Given the description of an element on the screen output the (x, y) to click on. 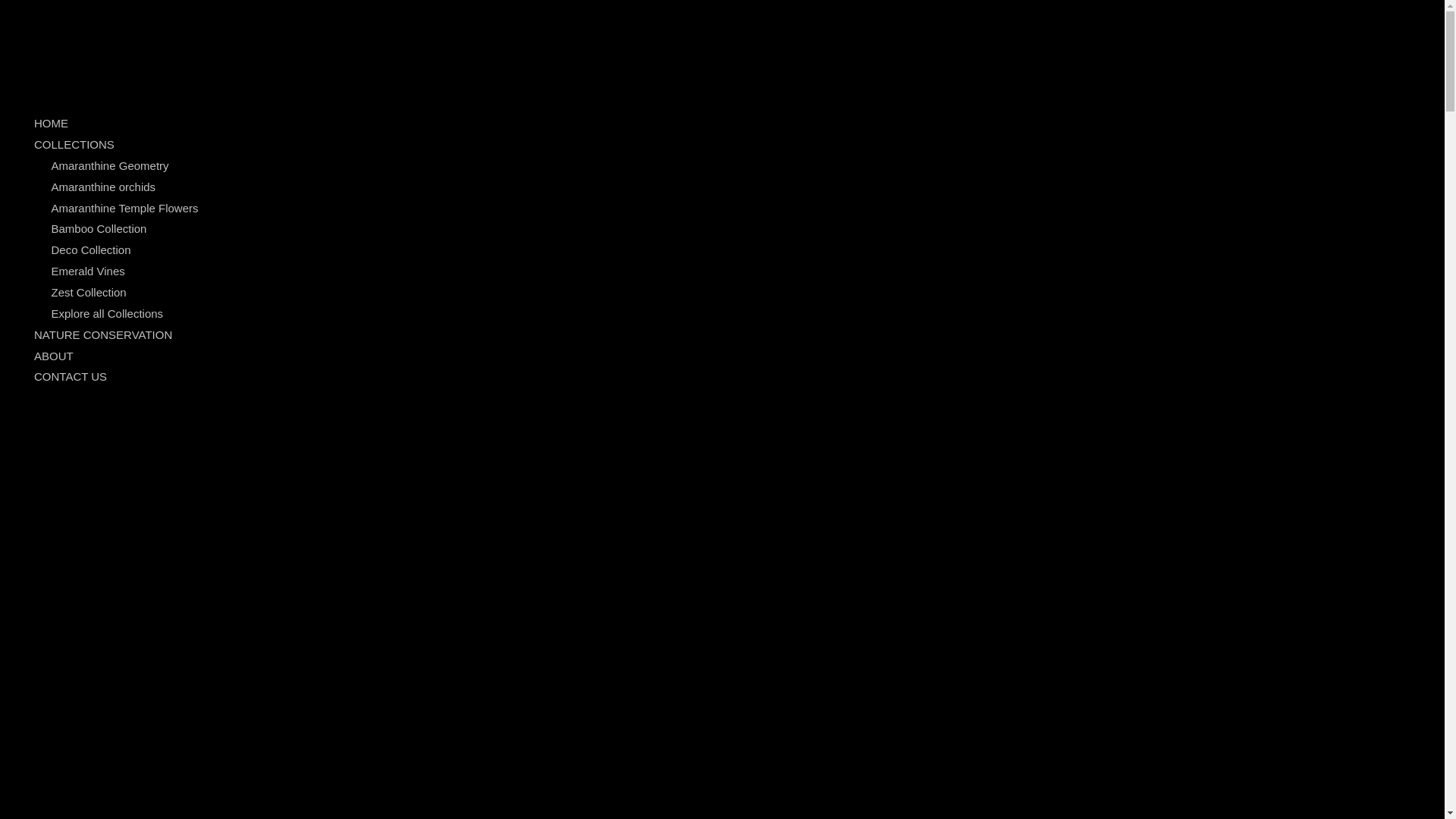
COLLECTIONS Element type: text (74, 144)
Amaranthine orchids Element type: text (103, 186)
Bamboo Collection Element type: text (99, 228)
Amaranthine Geometry Element type: text (110, 165)
Zest Collection Element type: text (88, 291)
Deco Collection Element type: text (91, 249)
Explore all Collections Element type: text (107, 313)
HOME Element type: text (51, 122)
Amaranthine Temple Flowers Element type: text (124, 207)
NATURE CONSERVATION Element type: text (103, 334)
CONTACT US Element type: text (70, 376)
ABOUT Element type: text (53, 355)
Emerald Vines Element type: text (88, 270)
